Given the description of an element on the screen output the (x, y) to click on. 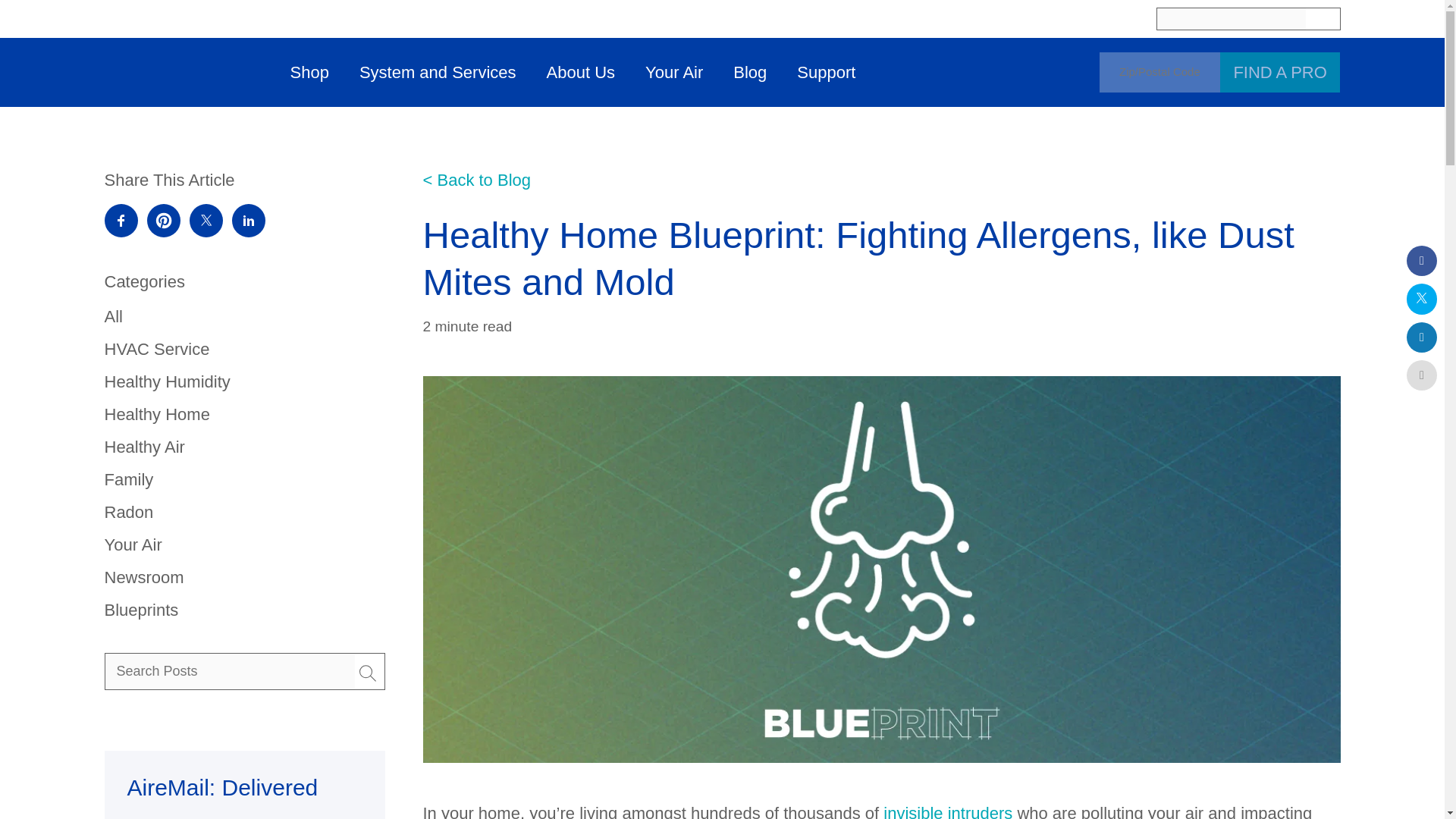
System and Services (437, 72)
opens in a new window (205, 220)
opens in a new window (121, 220)
opens in a new window (163, 220)
Shop (309, 72)
opens in a new window (247, 220)
Search (228, 671)
